Given the description of an element on the screen output the (x, y) to click on. 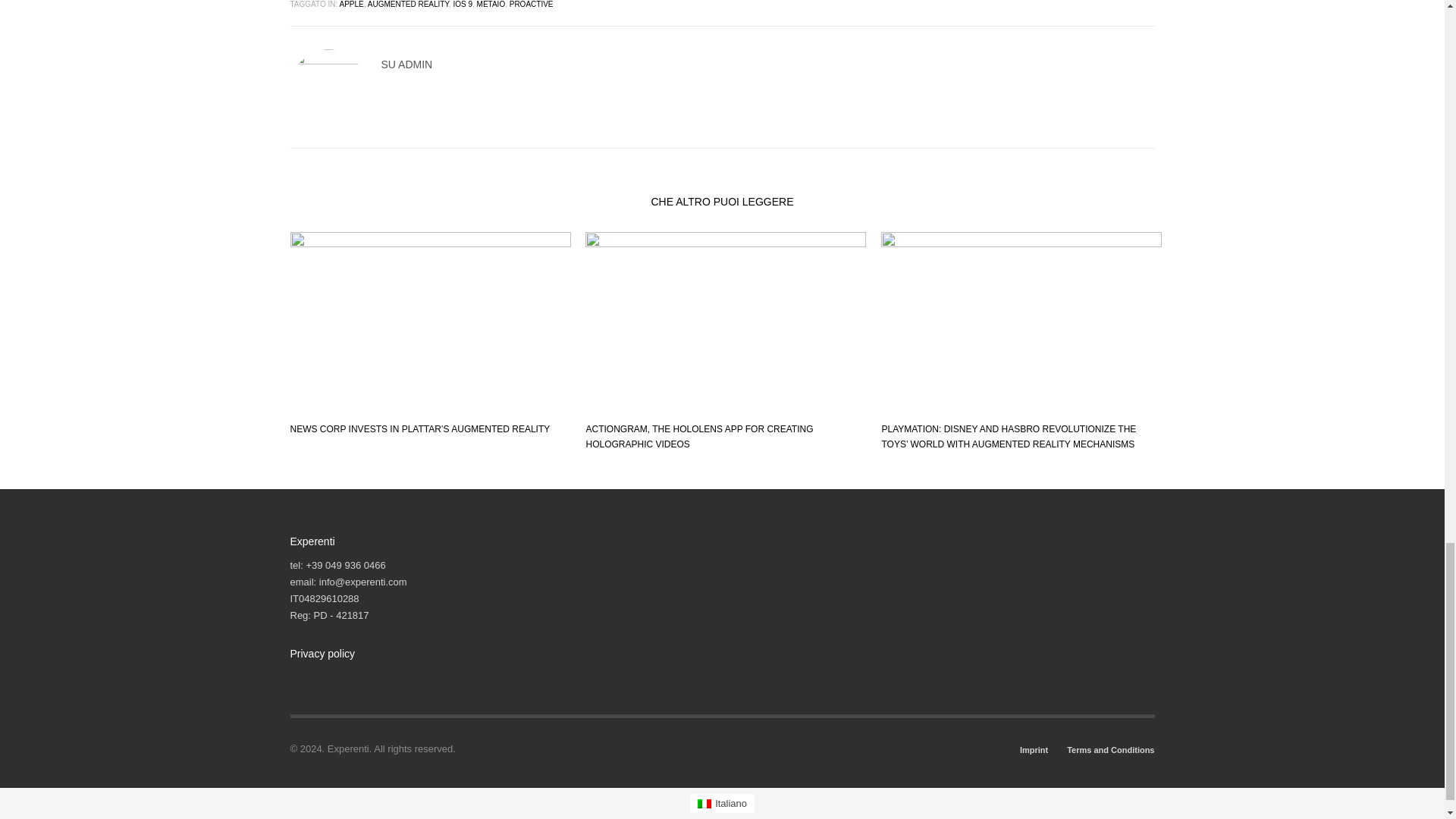
Privacy Policy (325, 677)
